Given the description of an element on the screen output the (x, y) to click on. 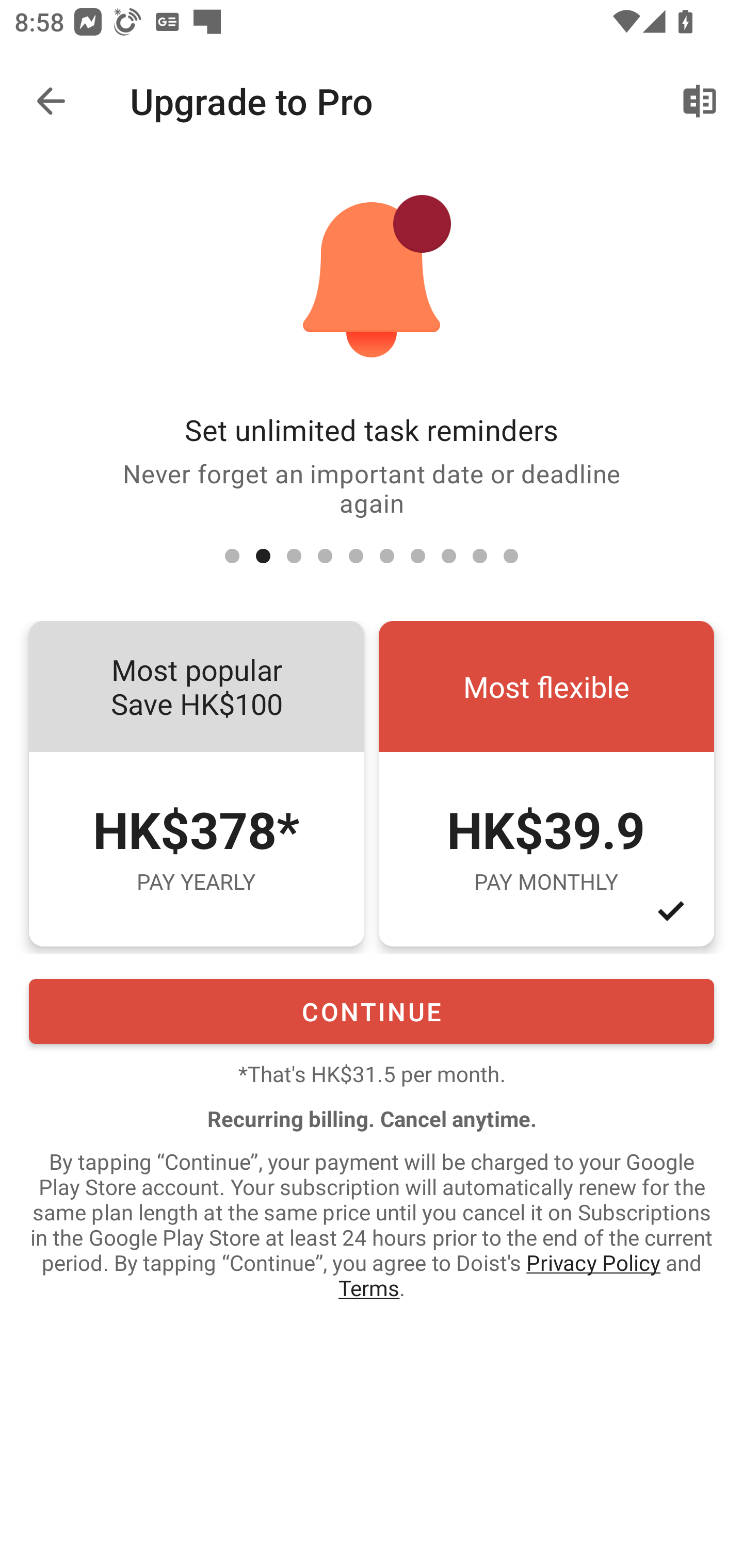
Navigate up (50, 101)
Side by side comparison (699, 101)
Most popular
Save HK$100 HK$378* PAY YEARLY (196, 783)
Most flexible HK$39.9 PAY MONTHLY (546, 783)
CONTINUE (371, 1011)
